Given the description of an element on the screen output the (x, y) to click on. 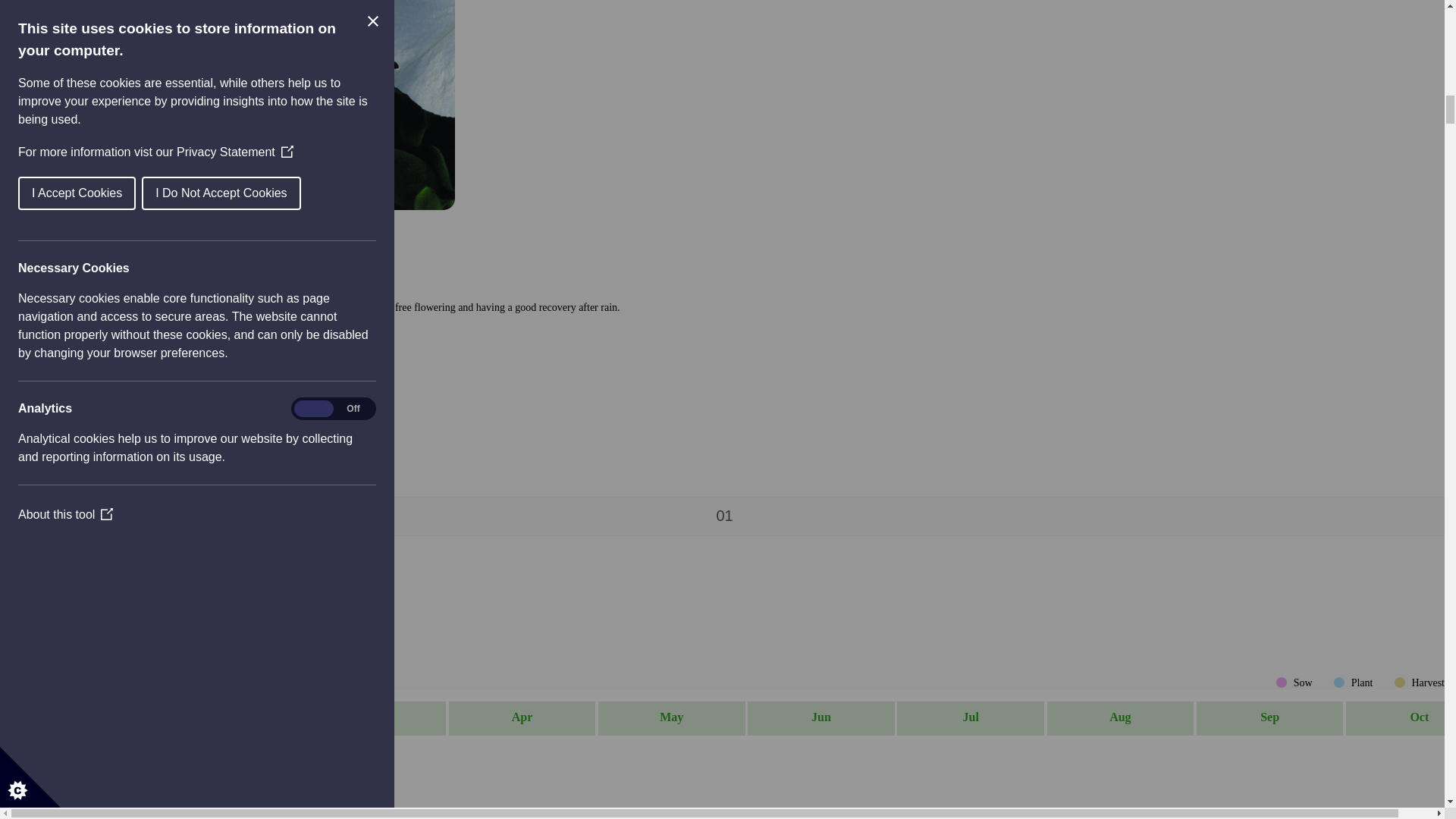
01 (728, 516)
